Given the description of an element on the screen output the (x, y) to click on. 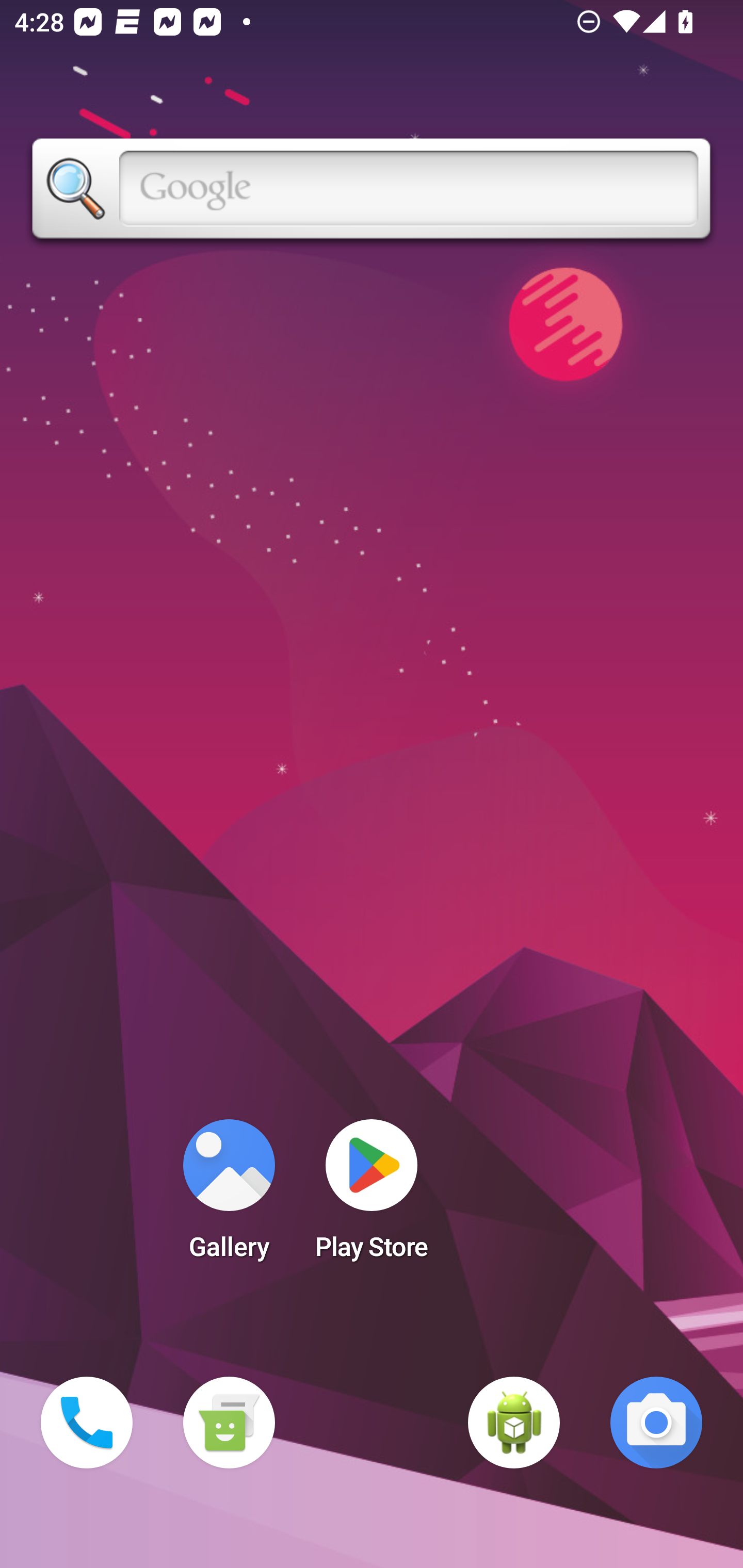
Gallery (228, 1195)
Play Store (371, 1195)
Phone (86, 1422)
Messaging (228, 1422)
WebView Browser Tester (513, 1422)
Camera (656, 1422)
